Given the description of an element on the screen output the (x, y) to click on. 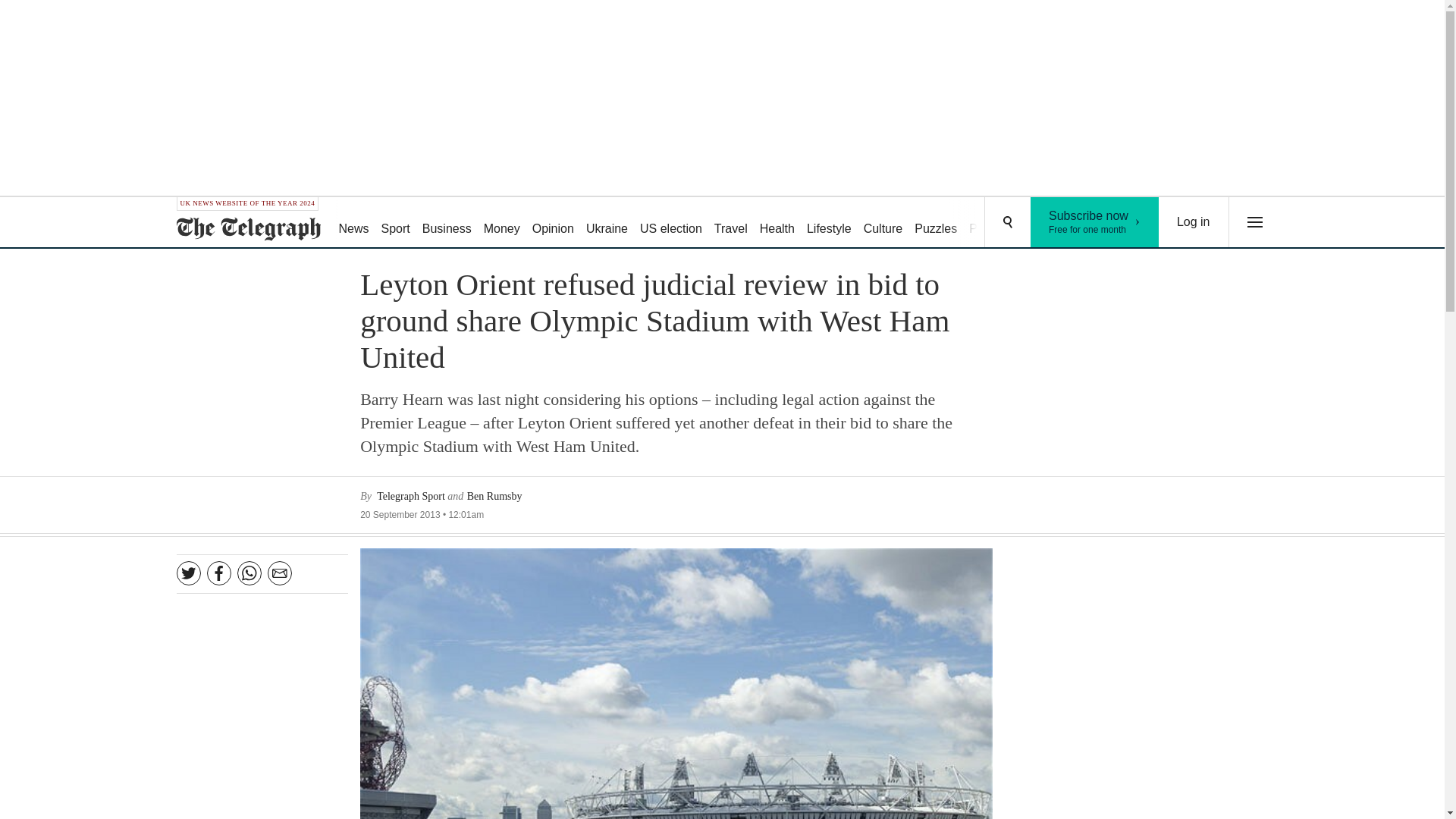
US election (670, 223)
Opinion (1094, 222)
Money (552, 223)
Puzzles (501, 223)
Log in (935, 223)
Health (1193, 222)
Ukraine (777, 223)
Podcasts (606, 223)
Lifestyle (993, 223)
